Given the description of an element on the screen output the (x, y) to click on. 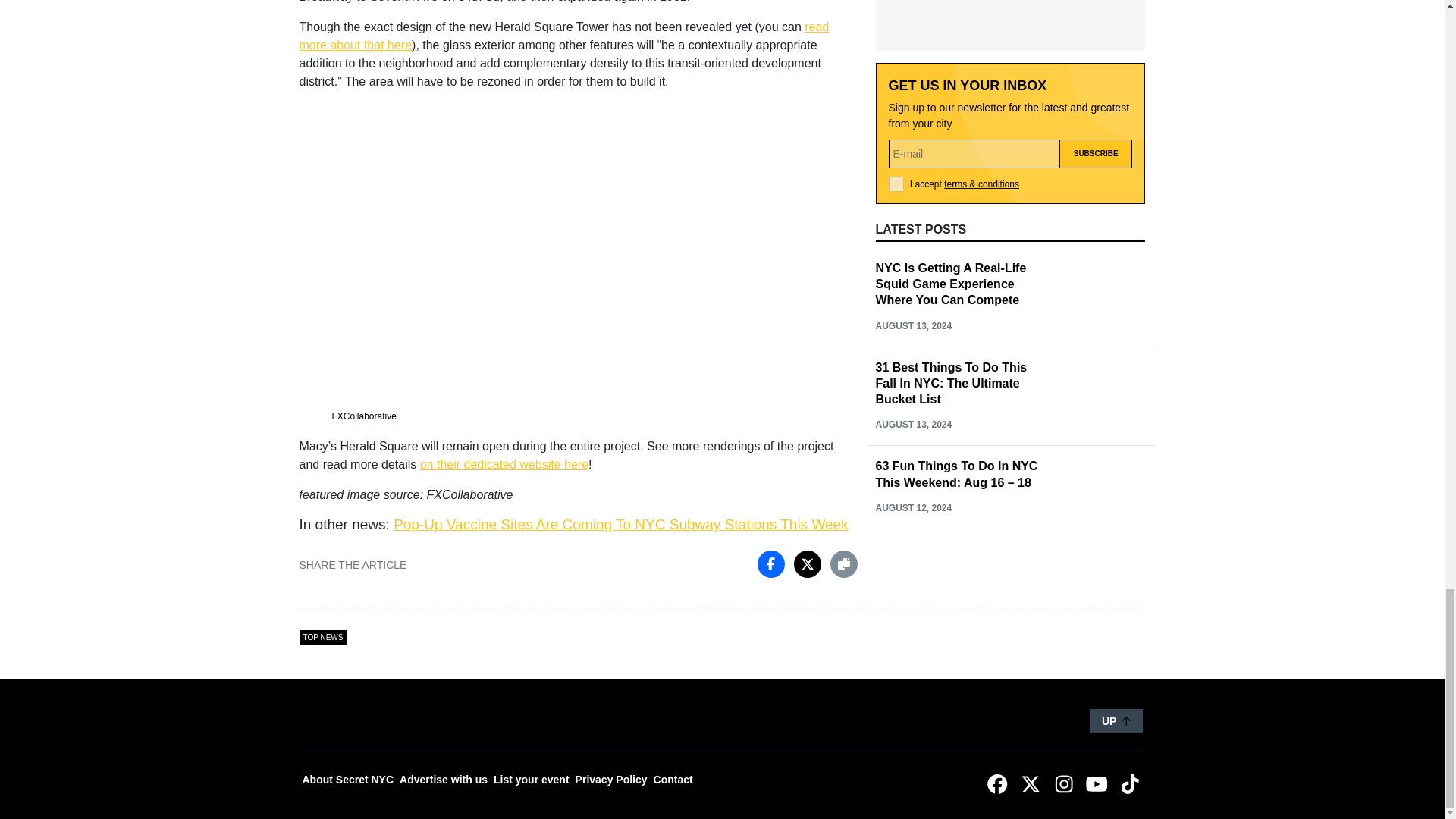
read more about that here (563, 35)
on their dedicated website here (504, 463)
